Given the description of an element on the screen output the (x, y) to click on. 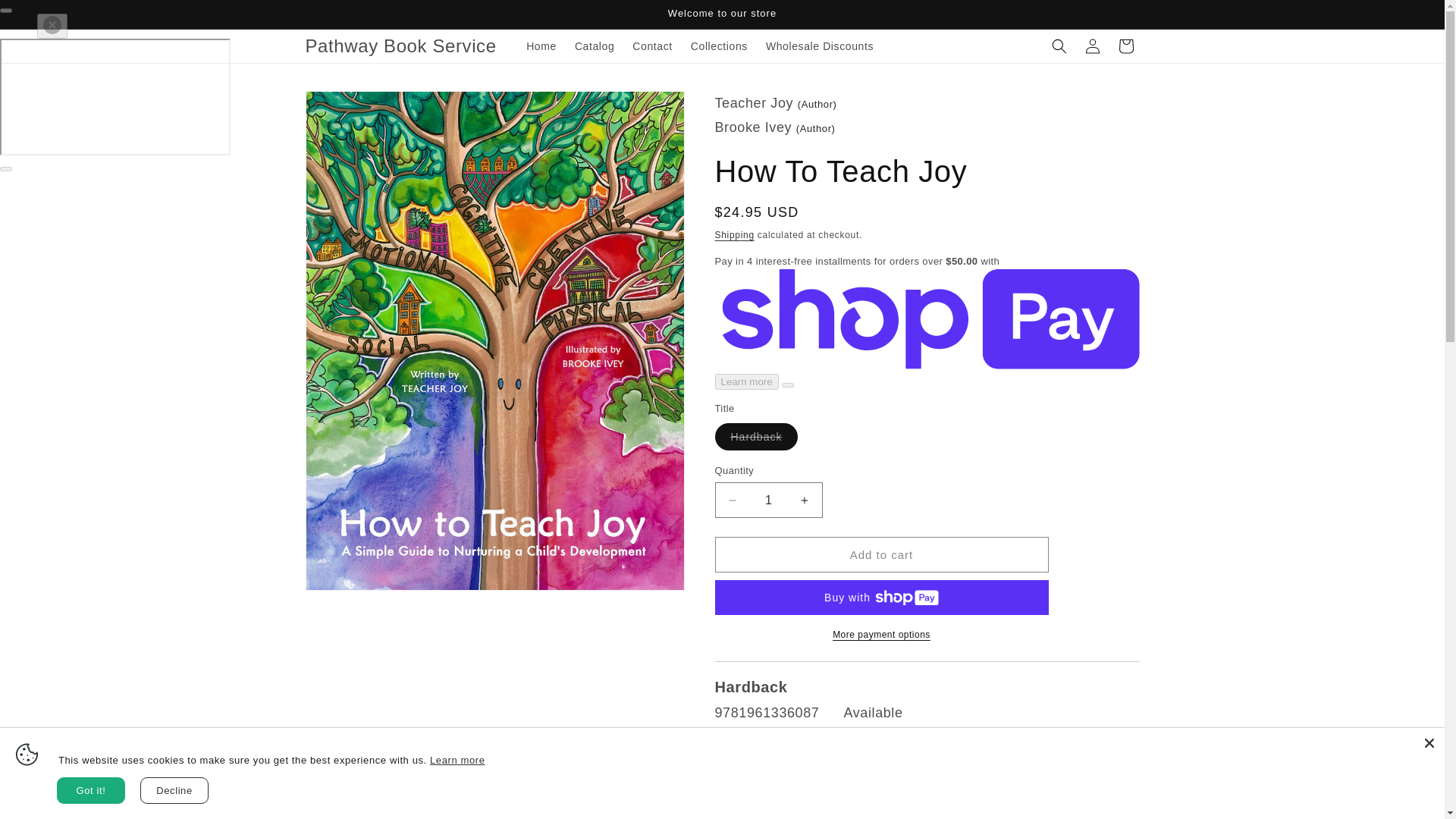
Cart (1124, 46)
1 (768, 499)
Learn more (456, 759)
Home (541, 46)
Pathway Book Service (400, 46)
Skip to content (45, 17)
Increase quantity for How To Teach Joy (804, 499)
More payment options (881, 634)
Shipping (734, 235)
Add to cart (881, 554)
Decrease quantity for How To Teach Joy (732, 499)
Collections (719, 46)
Skip to product information (350, 108)
Catalog (594, 46)
